Given the description of an element on the screen output the (x, y) to click on. 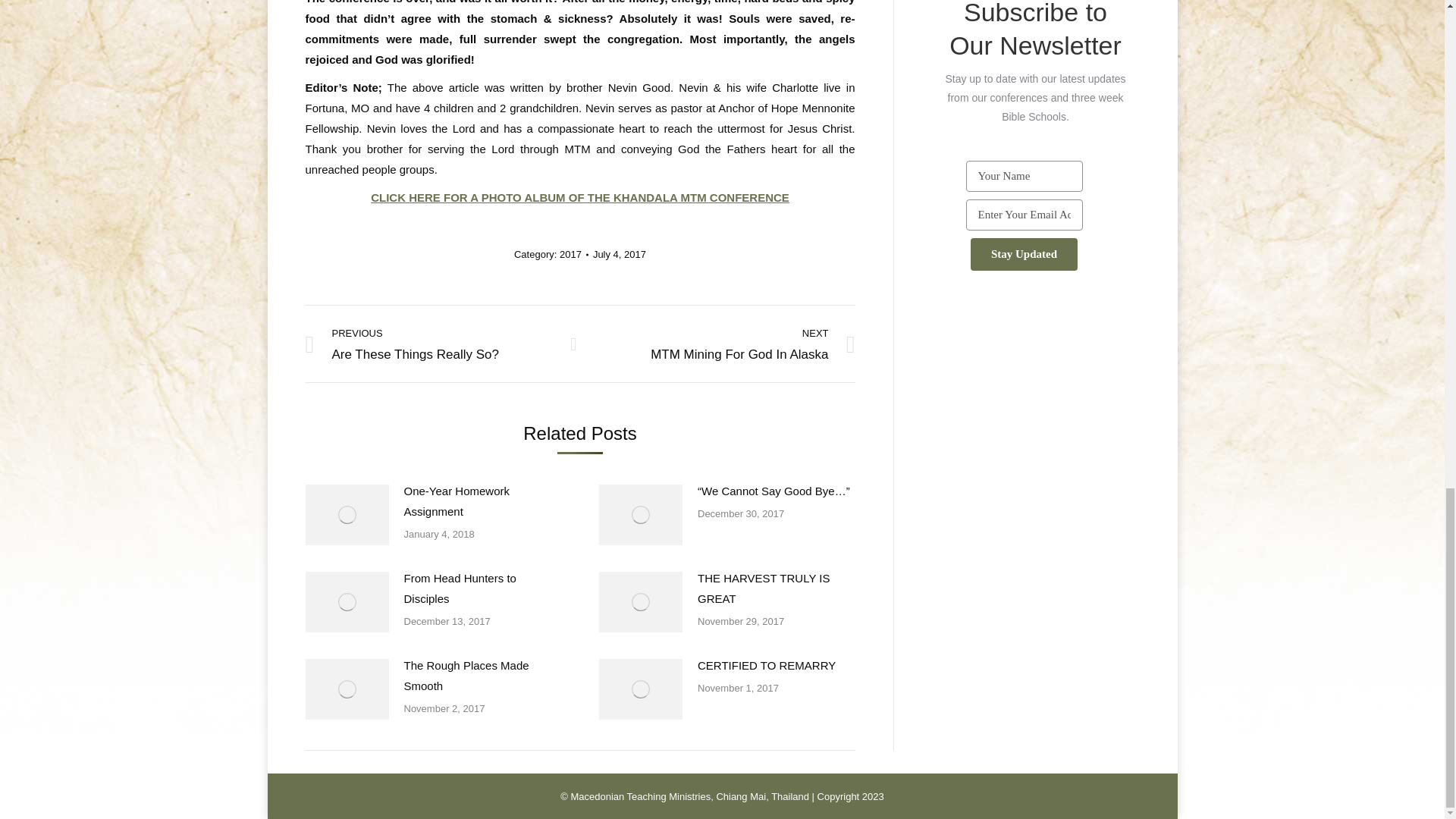
CLICK HERE FOR A PHOTO ALBUM OF THE KHANDALA MTM CONFERENCE (580, 196)
11:50 pm (619, 253)
July 4, 2017 (619, 253)
2017 (569, 254)
